Given the description of an element on the screen output the (x, y) to click on. 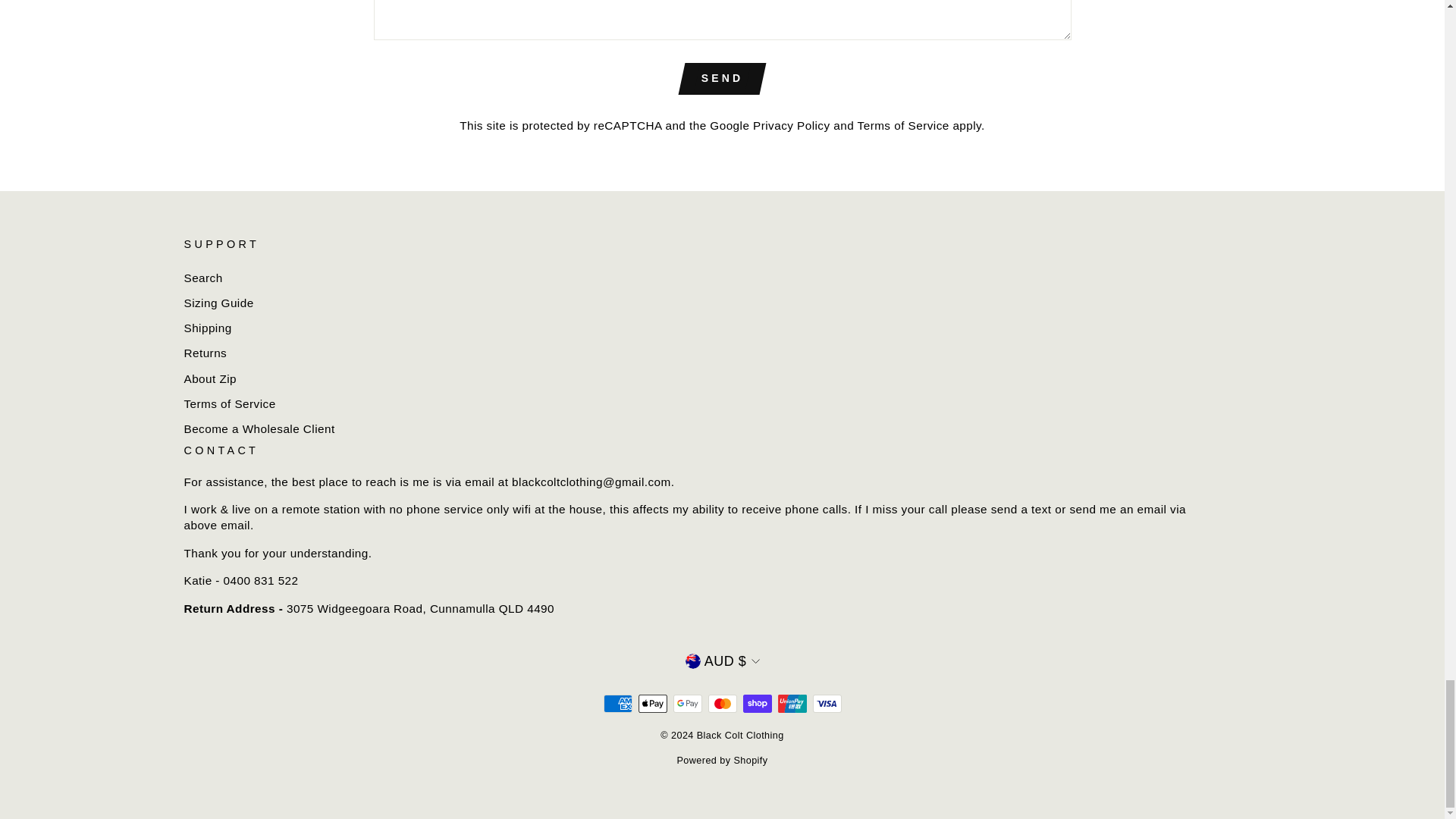
Mastercard (721, 703)
Union Pay (791, 703)
Visa (826, 703)
American Express (617, 703)
Apple Pay (652, 703)
Google Pay (686, 703)
Shop Pay (756, 703)
